Given the description of an element on the screen output the (x, y) to click on. 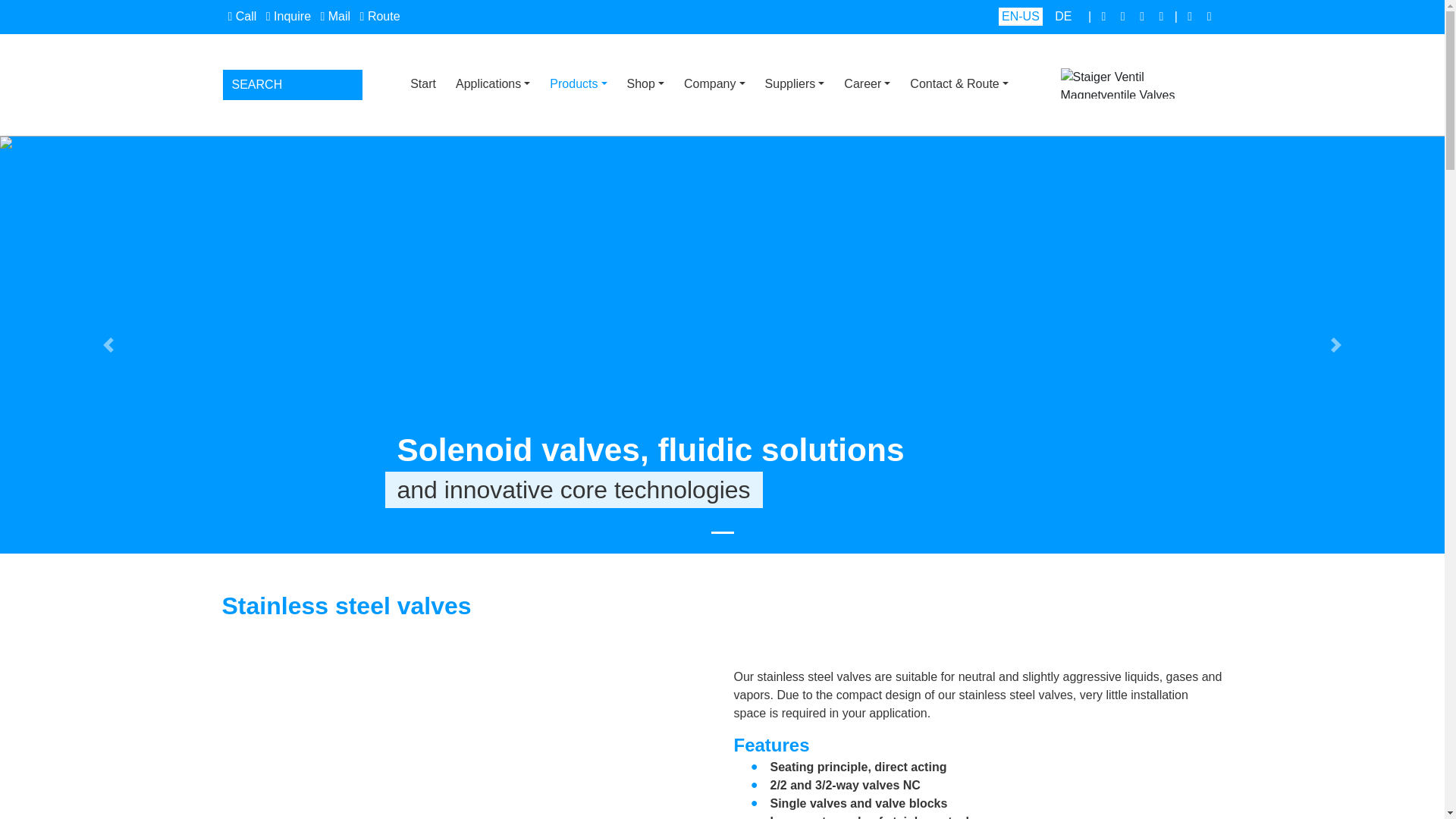
Call (241, 15)
Mail (335, 15)
Inquire (288, 15)
Company (714, 83)
EN-US (1020, 16)
Applications (492, 83)
Start (426, 83)
DE (1062, 16)
Route (379, 15)
Products (577, 83)
